Given the description of an element on the screen output the (x, y) to click on. 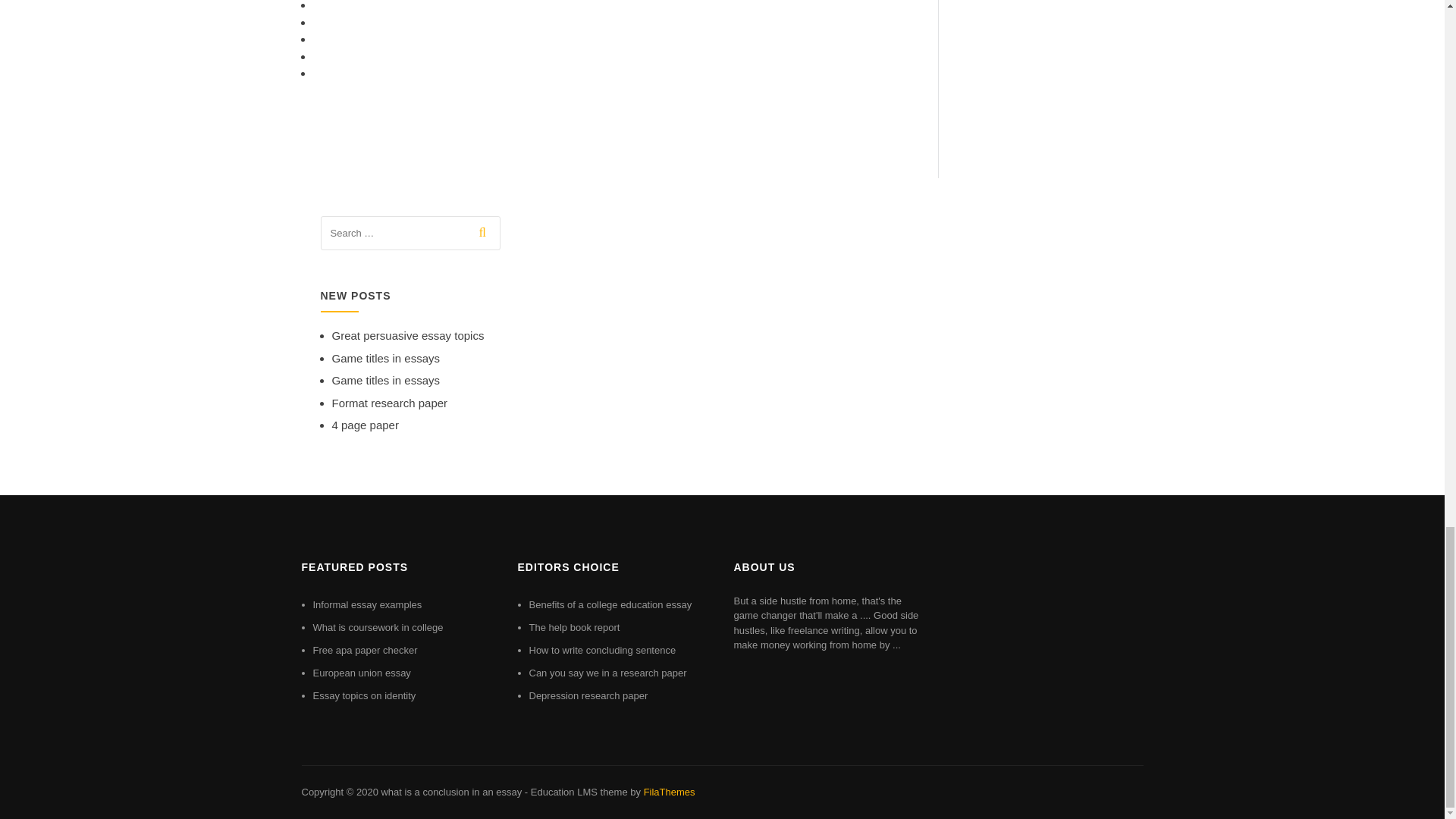
How to write concluding sentence (603, 650)
Format research paper (389, 402)
Essay topics on identity (363, 695)
what is a conclusion in an essay (450, 791)
Informal essay examples (367, 604)
Game titles in essays (386, 358)
what is a conclusion in an essay (450, 791)
4 page paper (364, 424)
Benefits of a college education essay (611, 604)
Game titles in essays (386, 379)
